Given the description of an element on the screen output the (x, y) to click on. 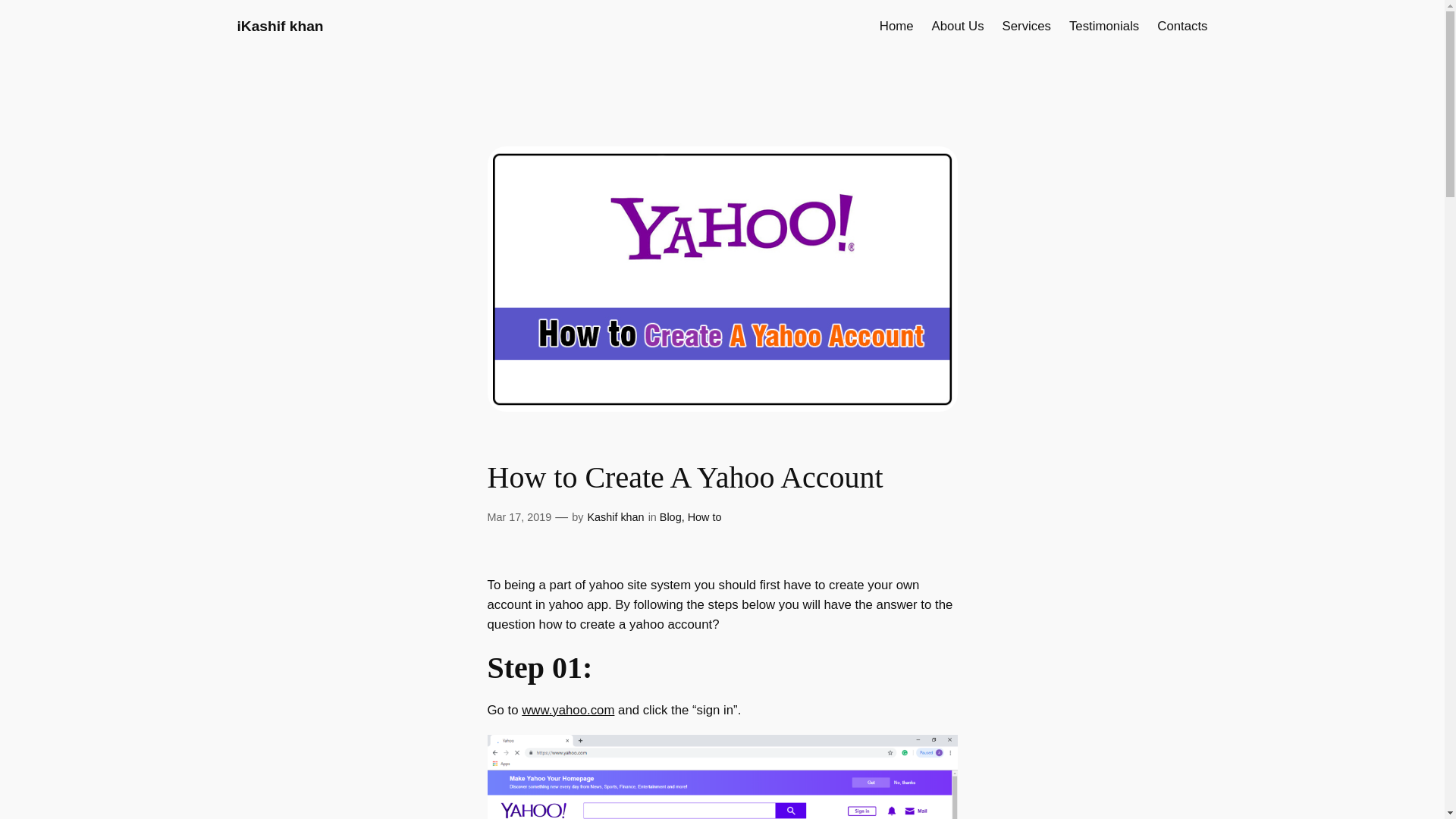
About Us (957, 26)
Kashif khan (614, 517)
Mar 17, 2019 (518, 517)
Contacts (1182, 26)
Services (1027, 26)
iKashif khan (279, 26)
www.yahoo.com (567, 709)
Blog (670, 517)
Testimonials (1103, 26)
Home (896, 26)
How to (704, 517)
